Given the description of an element on the screen output the (x, y) to click on. 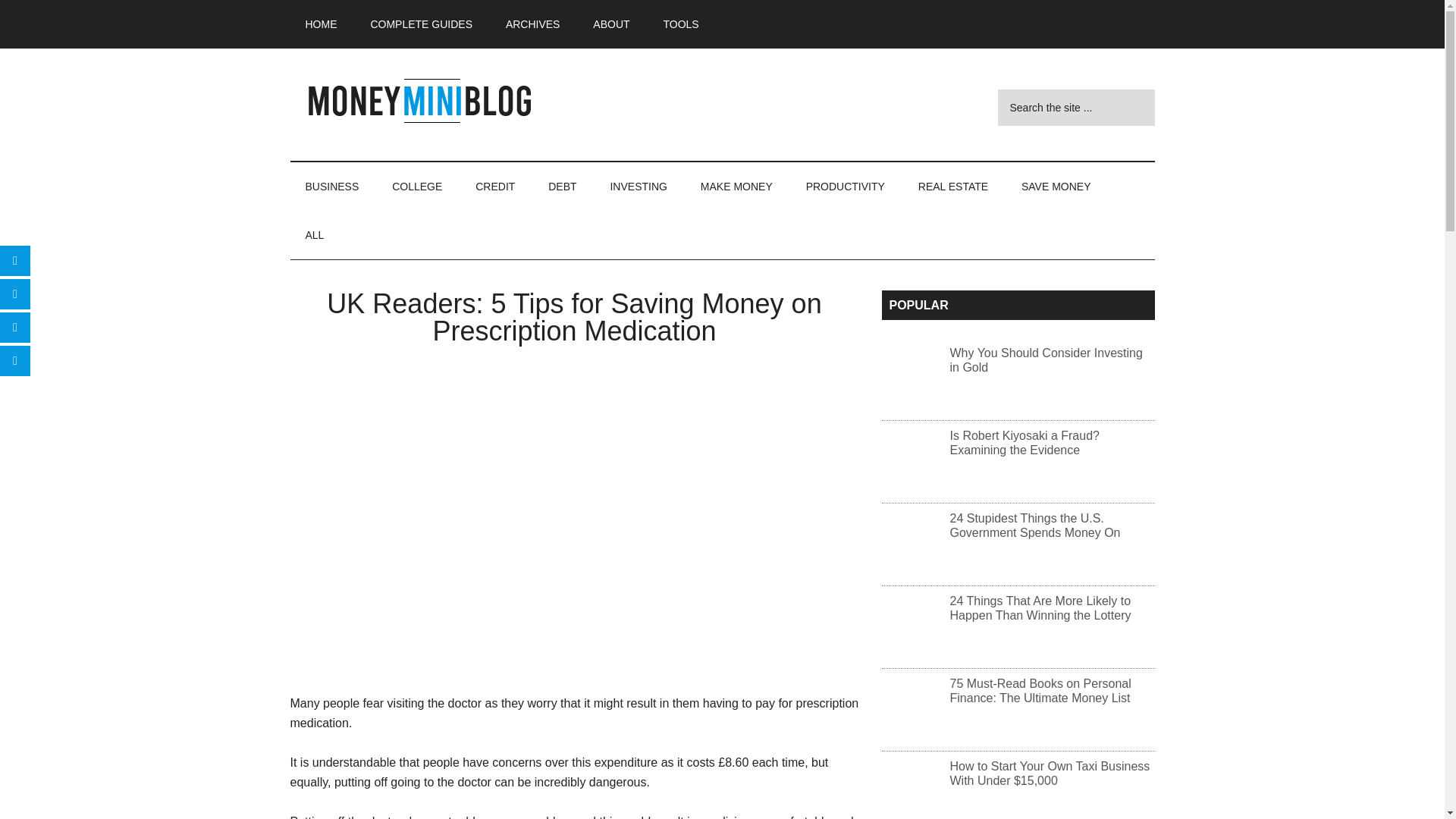
SAVE MONEY (1056, 186)
COMPLETE GUIDES (421, 24)
COLLEGE (417, 186)
ABOUT (611, 24)
PRODUCTIVITY (844, 186)
BUSINESS (331, 186)
ALL (314, 234)
HOME (320, 24)
MAKE MONEY (736, 186)
ARCHIVES (532, 24)
INVESTING (637, 186)
